Given the description of an element on the screen output the (x, y) to click on. 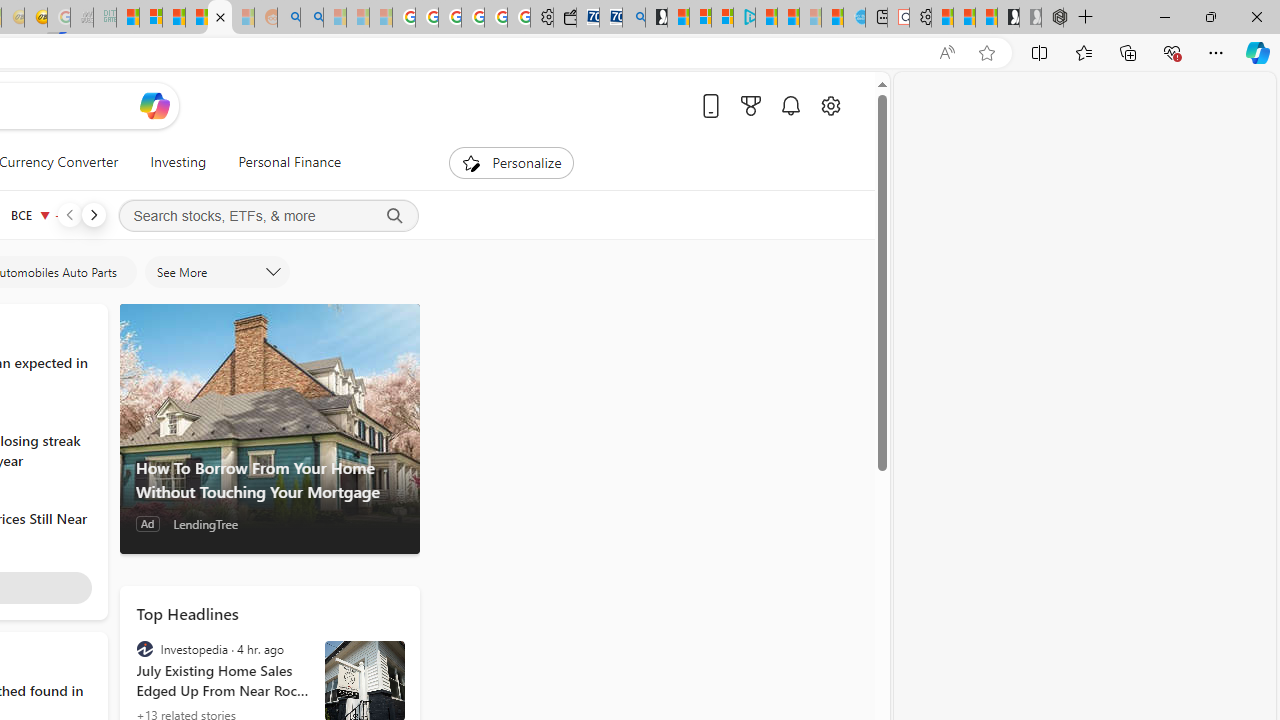
Personal Finance (281, 162)
How To Borrow From Your Home Without Touching Your Mortgage (269, 429)
How To Borrow From Your Home Without Touching Your Mortgage (269, 479)
Personal Finance (289, 162)
Home | Sky Blue Bikes - Sky Blue Bikes (854, 17)
